Given the description of an element on the screen output the (x, y) to click on. 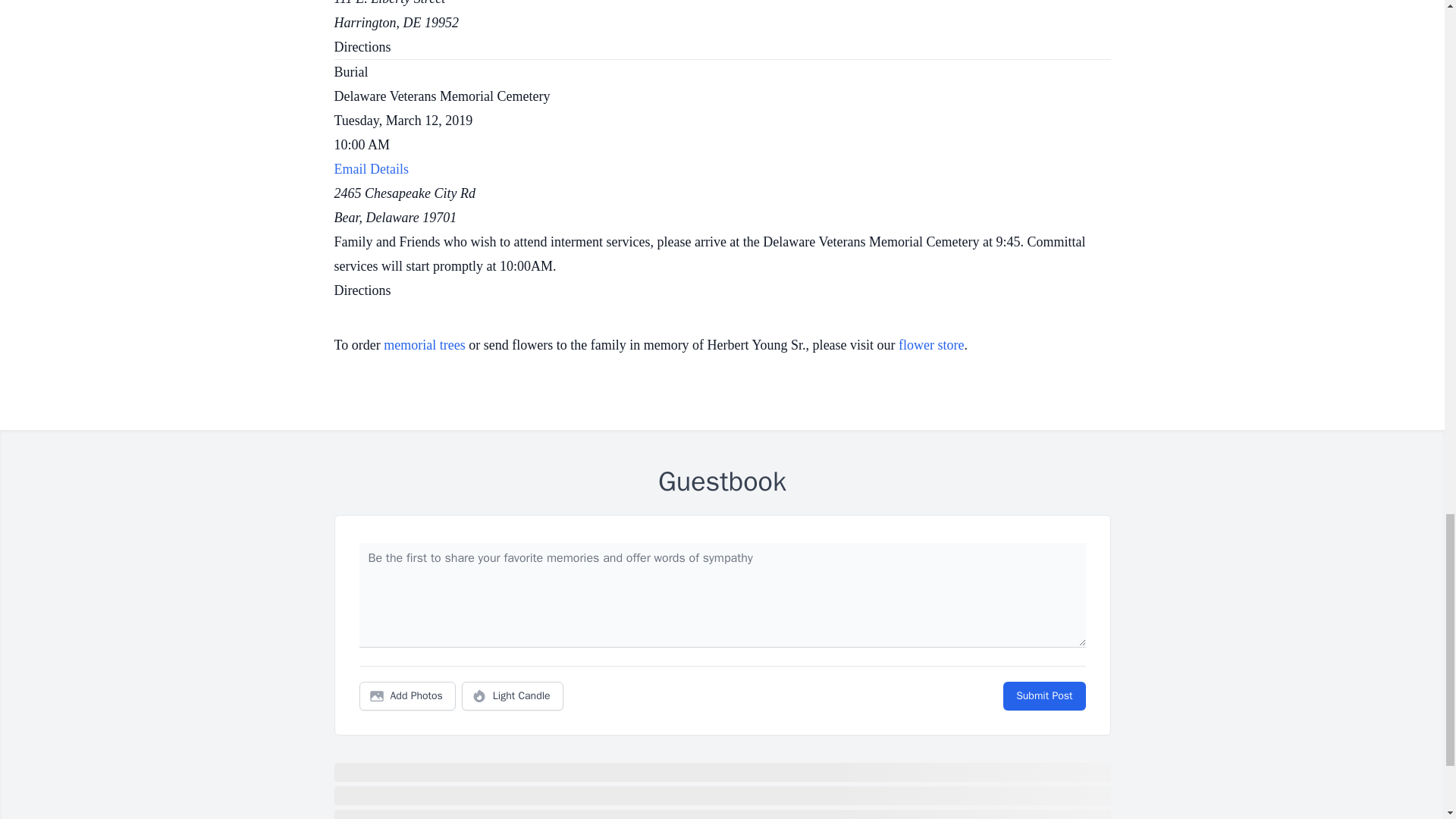
Email Details (721, 170)
memorial trees (424, 344)
Add Photos (407, 695)
Submit Post (1043, 695)
flower store (930, 344)
Directions (361, 290)
Light Candle (512, 695)
Directions (361, 46)
